Given the description of an element on the screen output the (x, y) to click on. 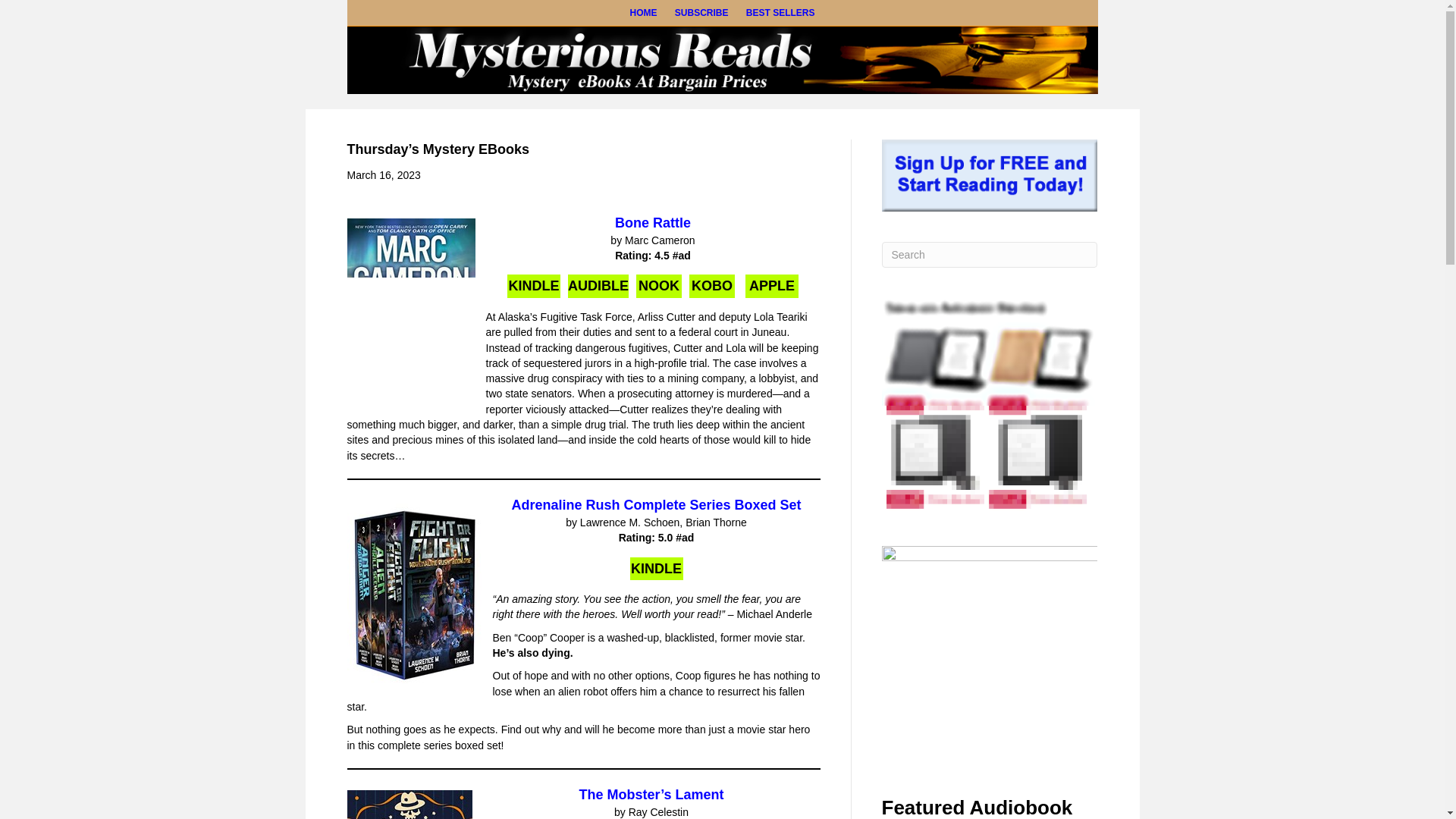
KINDLE (533, 286)
NOOK (658, 286)
Type and press Enter to search. (988, 254)
KOBO (711, 286)
Adrenaline Rush Complete Series Boxed Set (655, 504)
BEST SELLERS (780, 13)
HOME (642, 13)
KINDLE (655, 568)
APPLE (771, 286)
Bone Rattle (652, 222)
